Given the description of an element on the screen output the (x, y) to click on. 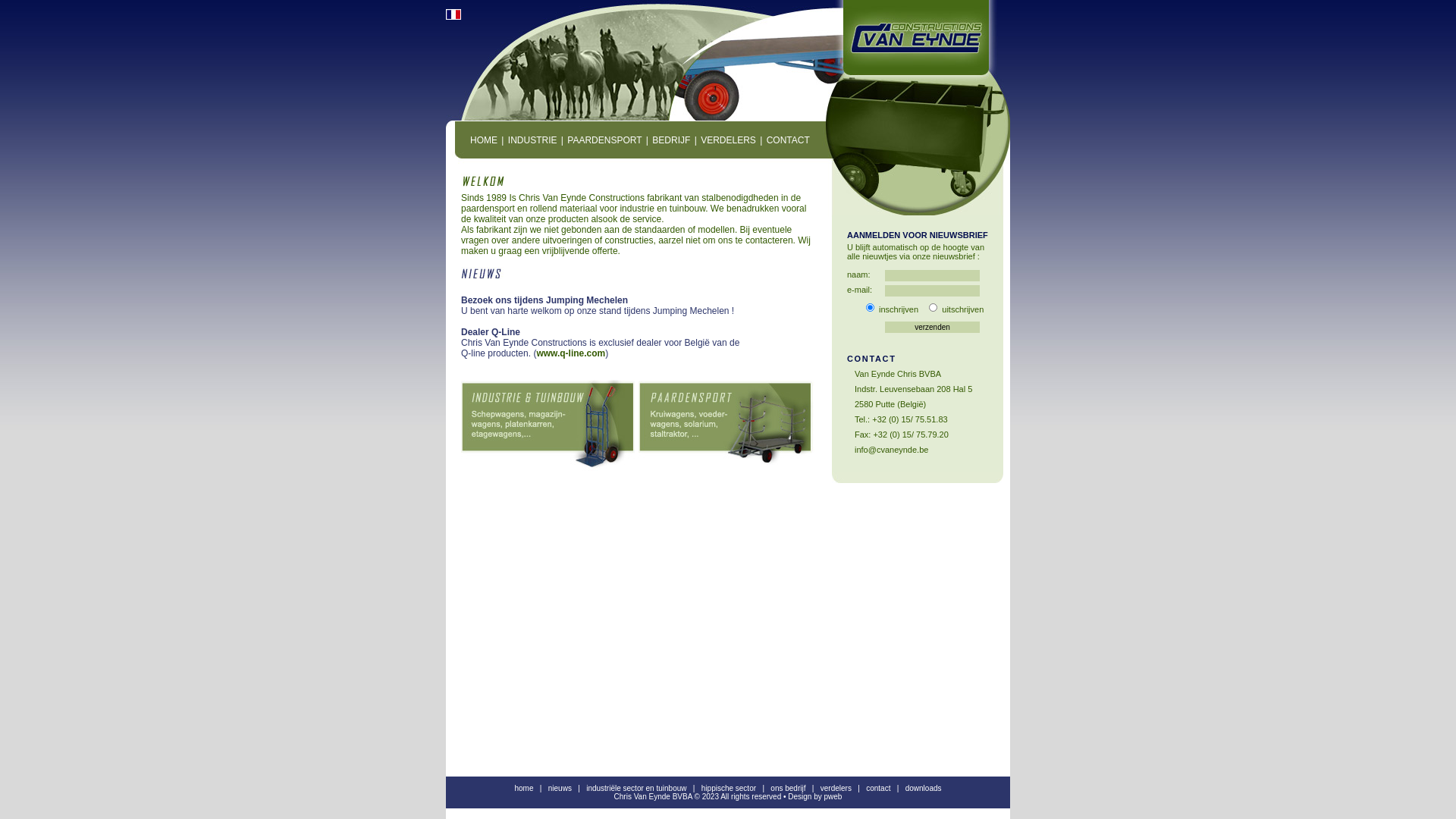
www.q-line.com Element type: text (570, 353)
home Element type: text (523, 788)
ons bedrijf Element type: text (787, 788)
INDUSTRIE Element type: text (532, 140)
PAARDENSPORT Element type: text (604, 140)
contact Element type: text (878, 788)
hippische sector Element type: text (728, 788)
verdelers Element type: text (835, 788)
downloads Element type: text (923, 788)
VERDELERS Element type: text (728, 140)
BEDRIJF Element type: text (670, 140)
info@cvaneynde.be Element type: text (891, 449)
CONTACT Element type: text (788, 140)
nieuws Element type: text (559, 788)
HOME Element type: text (483, 140)
Design by pweb Element type: text (814, 796)
verzenden Element type: text (931, 326)
